Given the description of an element on the screen output the (x, y) to click on. 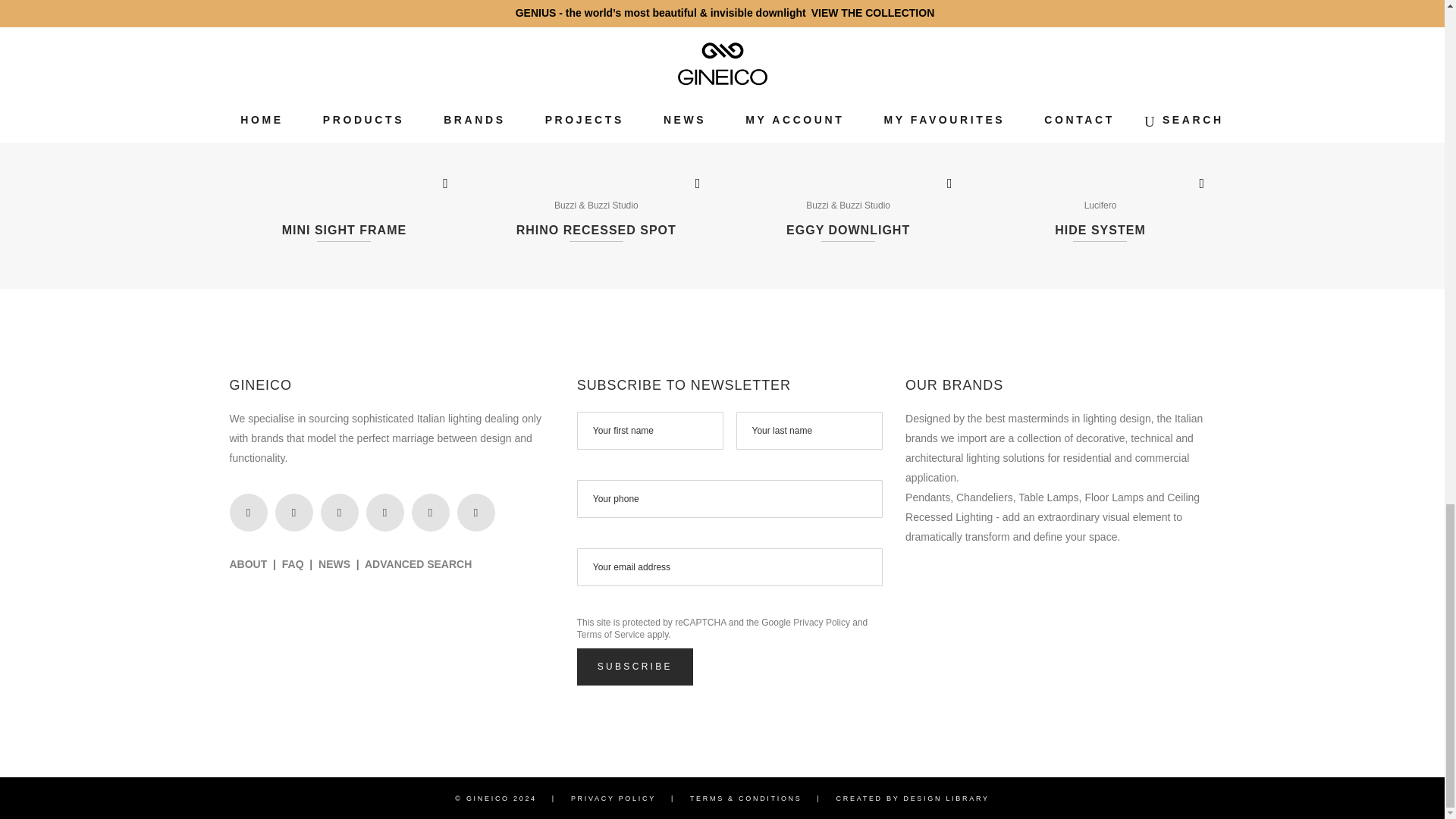
SUBSCRIBE (634, 666)
